Given the description of an element on the screen output the (x, y) to click on. 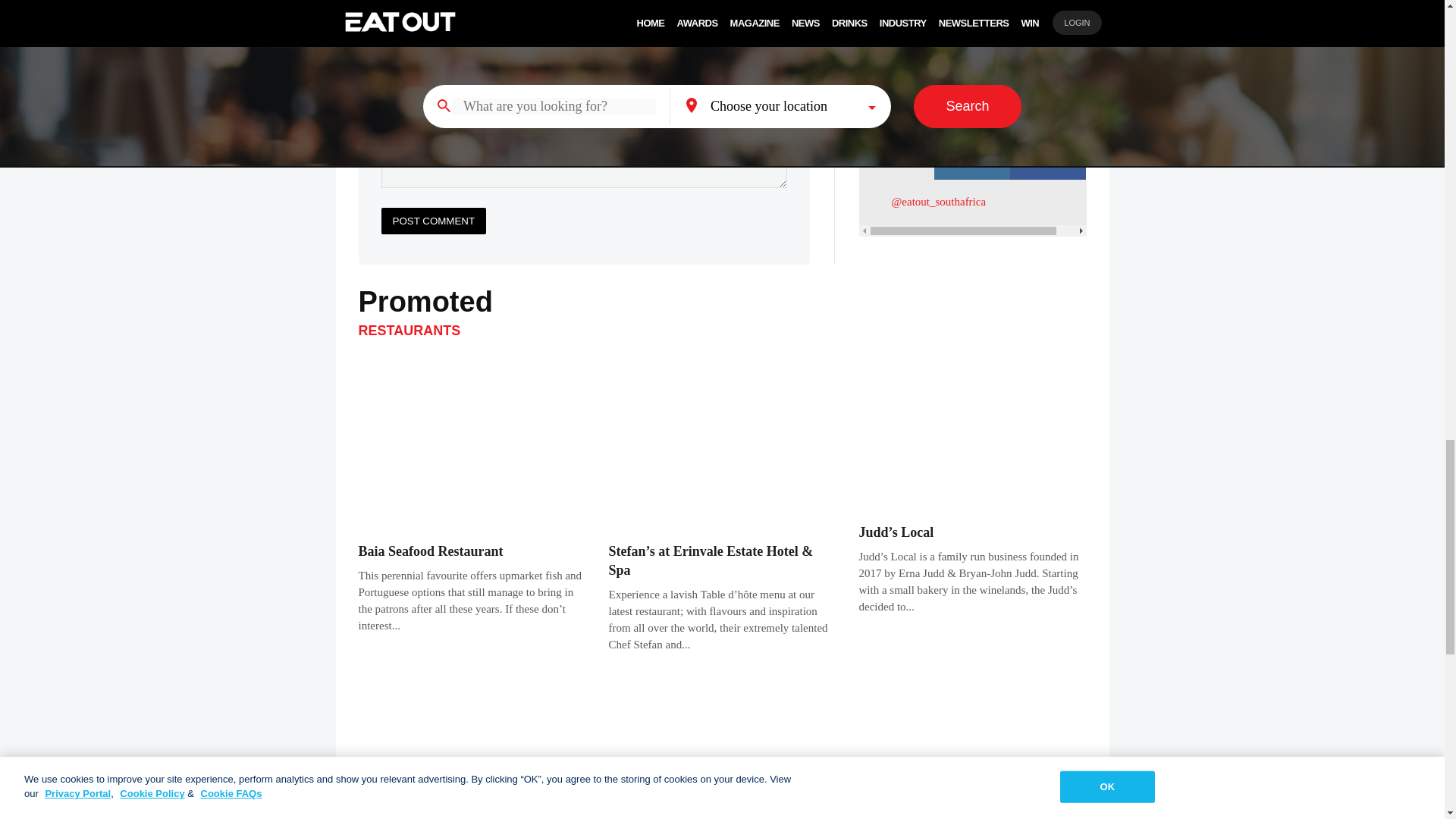
Post Comment (433, 221)
3rd party ad content (972, 54)
